Given the description of an element on the screen output the (x, y) to click on. 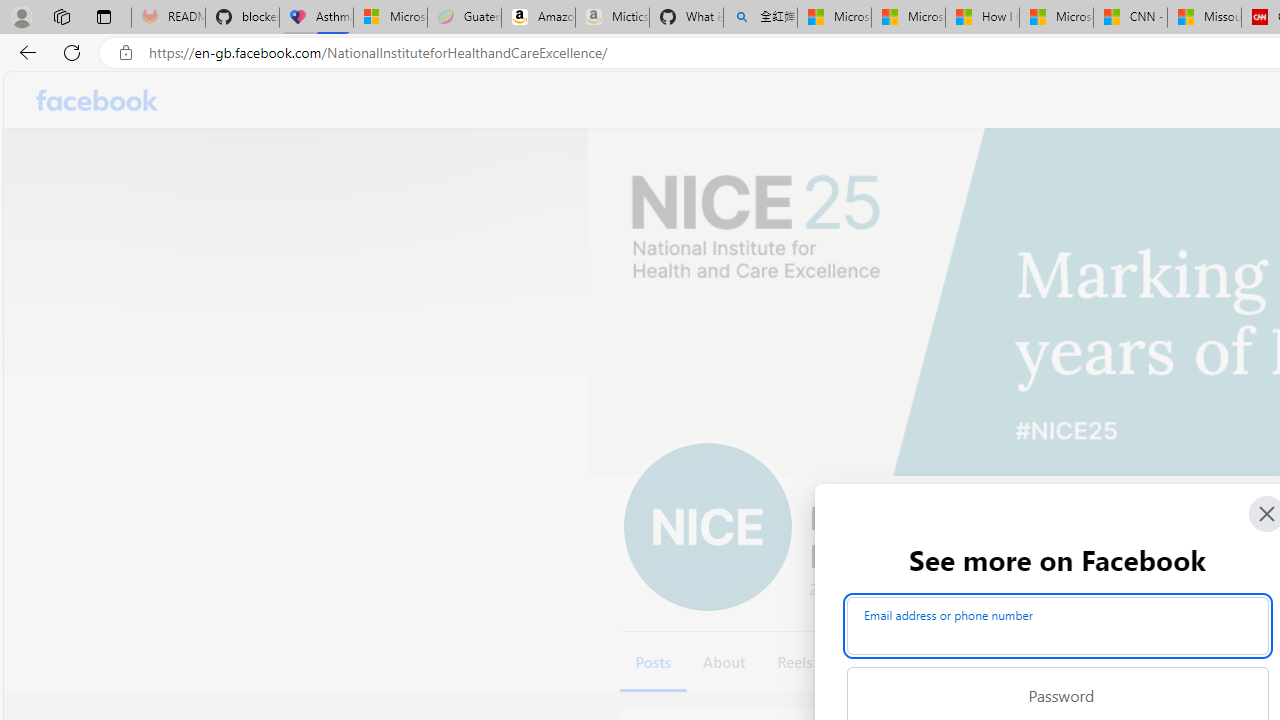
Asthma Inhalers: Names and Types (316, 17)
